Given the description of an element on the screen output the (x, y) to click on. 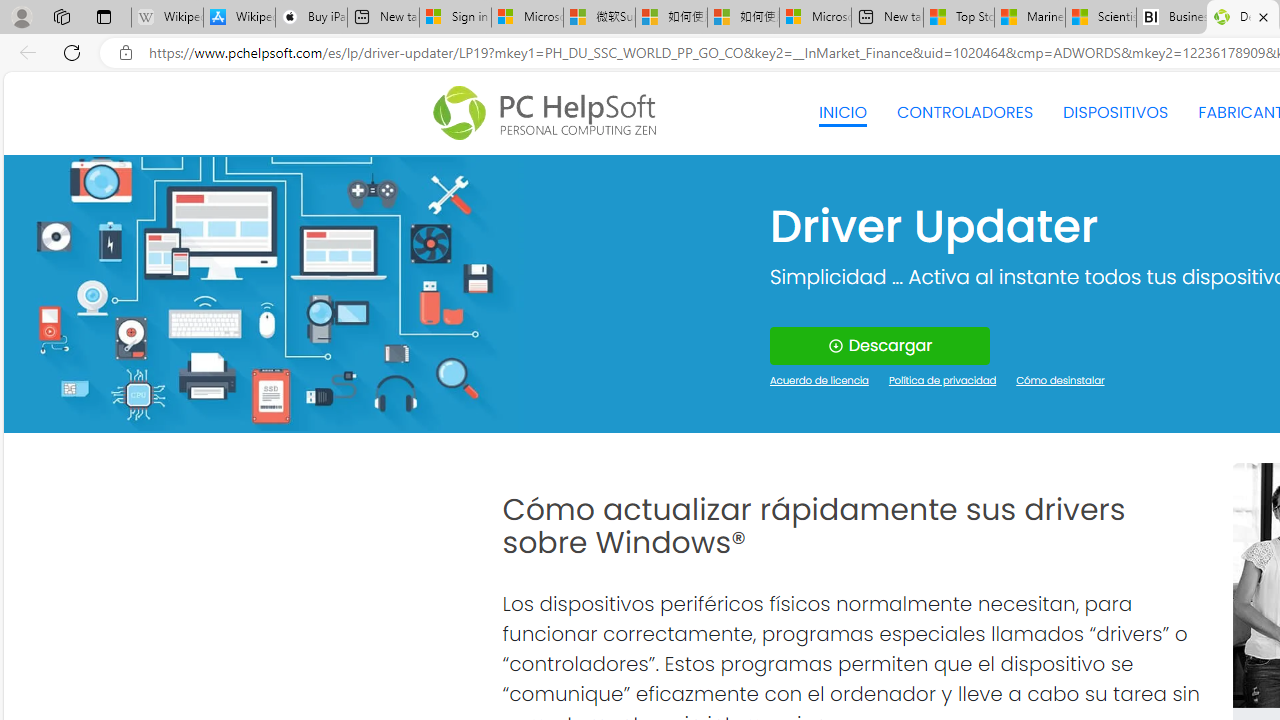
DISPOSITIVOS (1115, 112)
Download Icon (834, 345)
INICIO (842, 112)
DISPOSITIVOS (1115, 112)
Logo Personal Computing (550, 113)
Logo Personal Computing (550, 113)
CONTROLADORES (965, 112)
